Given the description of an element on the screen output the (x, y) to click on. 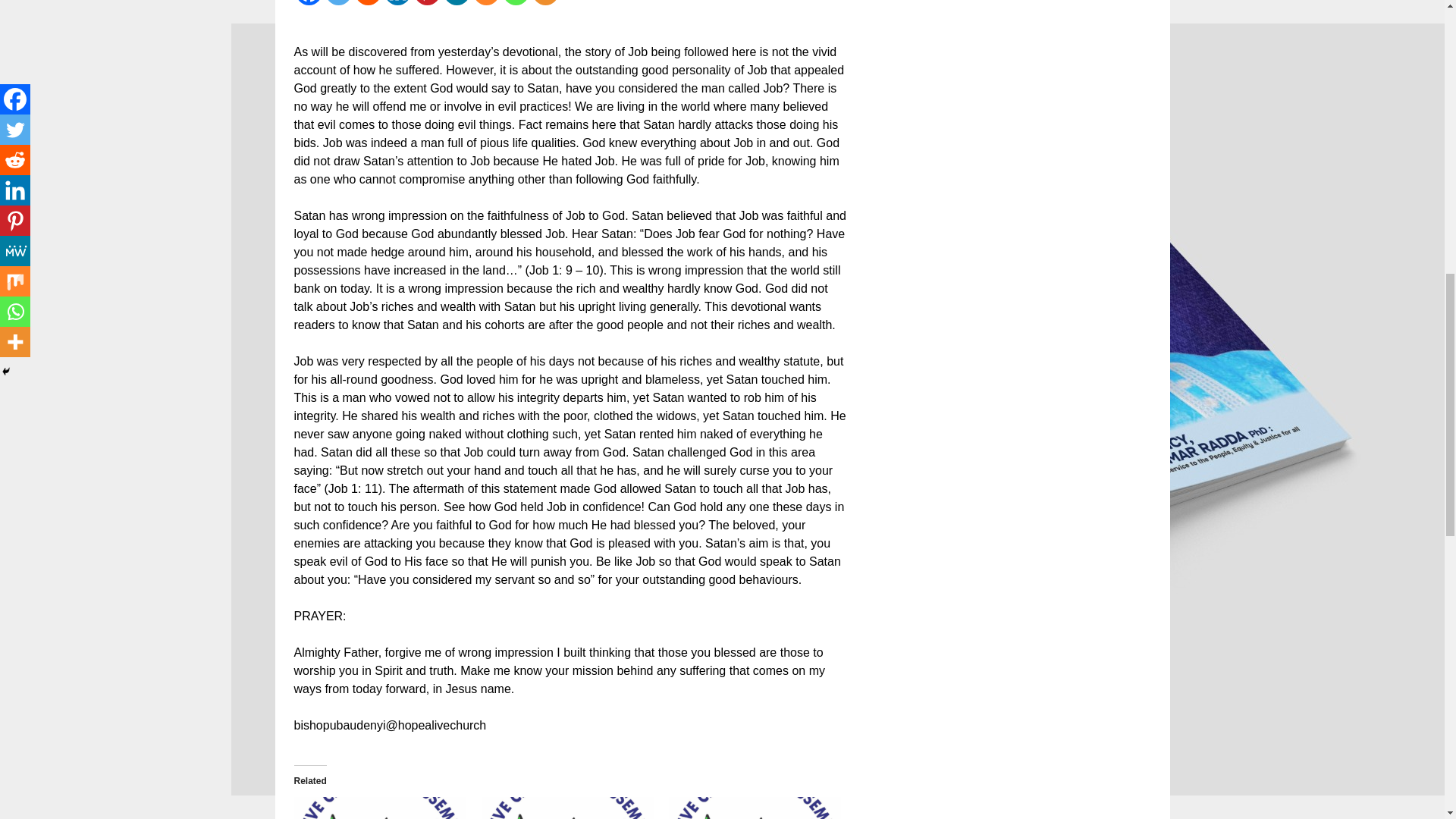
Reddit (368, 2)
Facebook (308, 2)
Twitter (337, 2)
Mix (486, 2)
More (545, 2)
Whatsapp (515, 2)
MeWe (455, 2)
Linkedin (397, 2)
Pinterest (427, 2)
